Given the description of an element on the screen output the (x, y) to click on. 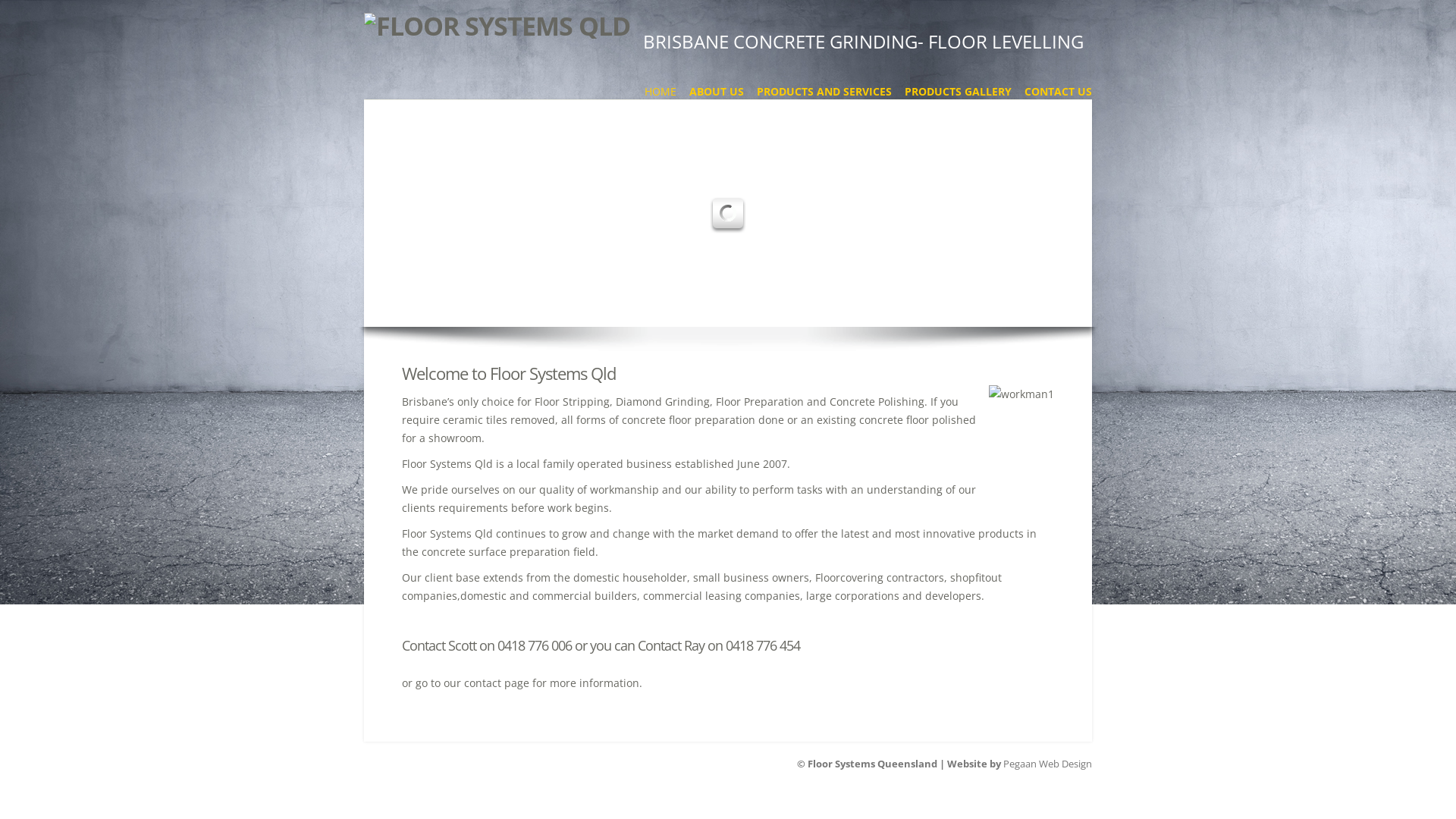
CONTACT US Element type: text (1058, 91)
Floor Systems QLD Element type: hover (497, 25)
HOME Element type: text (660, 91)
Pegaan Web Design Element type: text (1047, 763)
ABOUT US Element type: text (716, 91)
PRODUCTS GALLERY Element type: text (957, 91)
PRODUCTS AND SERVICES Element type: text (823, 91)
